Given the description of an element on the screen output the (x, y) to click on. 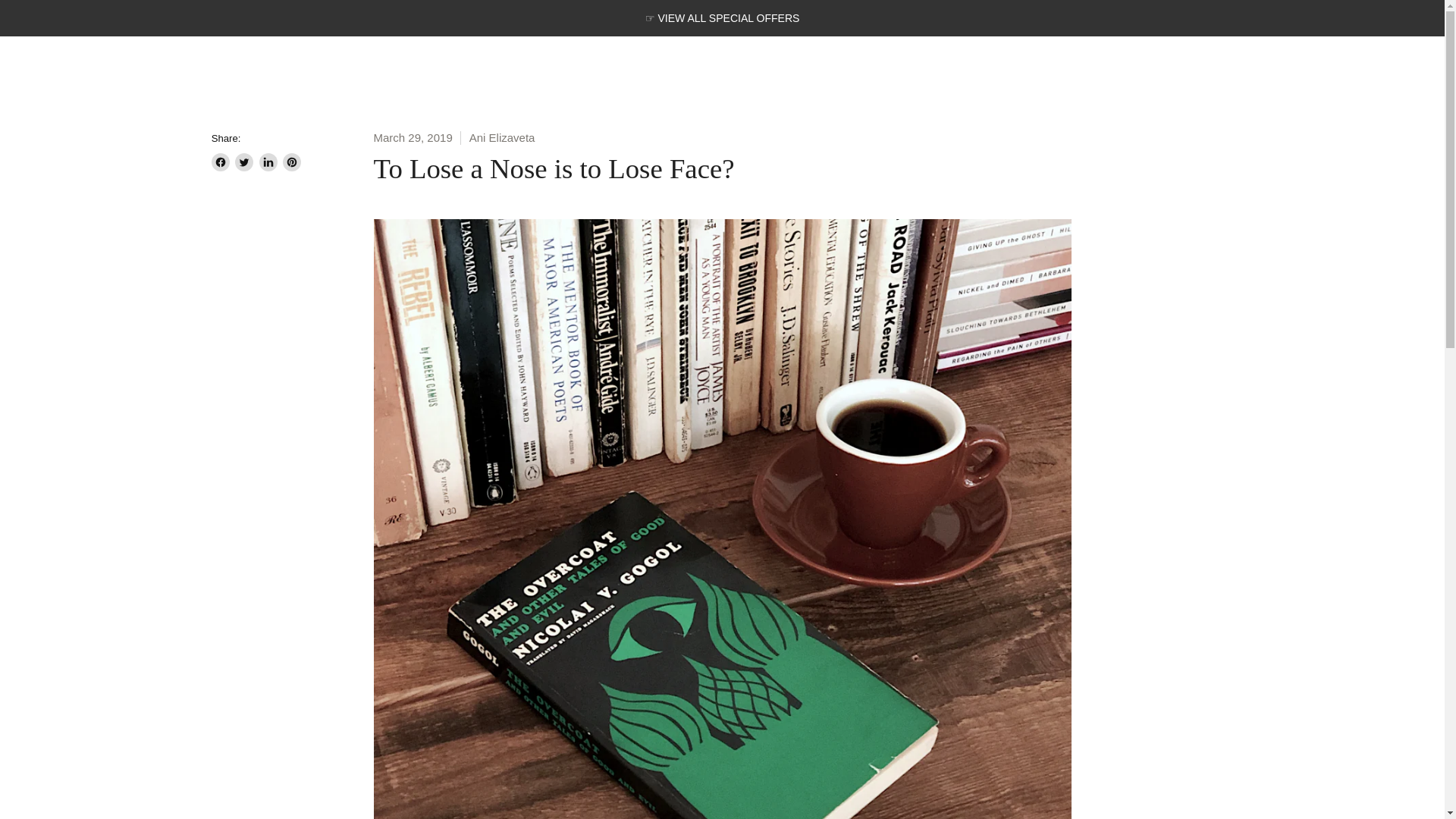
Share on LinkedIn (268, 162)
Share on Facebook (220, 162)
Tweet on Twitter (243, 162)
Pin on Pinterest (291, 162)
